Given the description of an element on the screen output the (x, y) to click on. 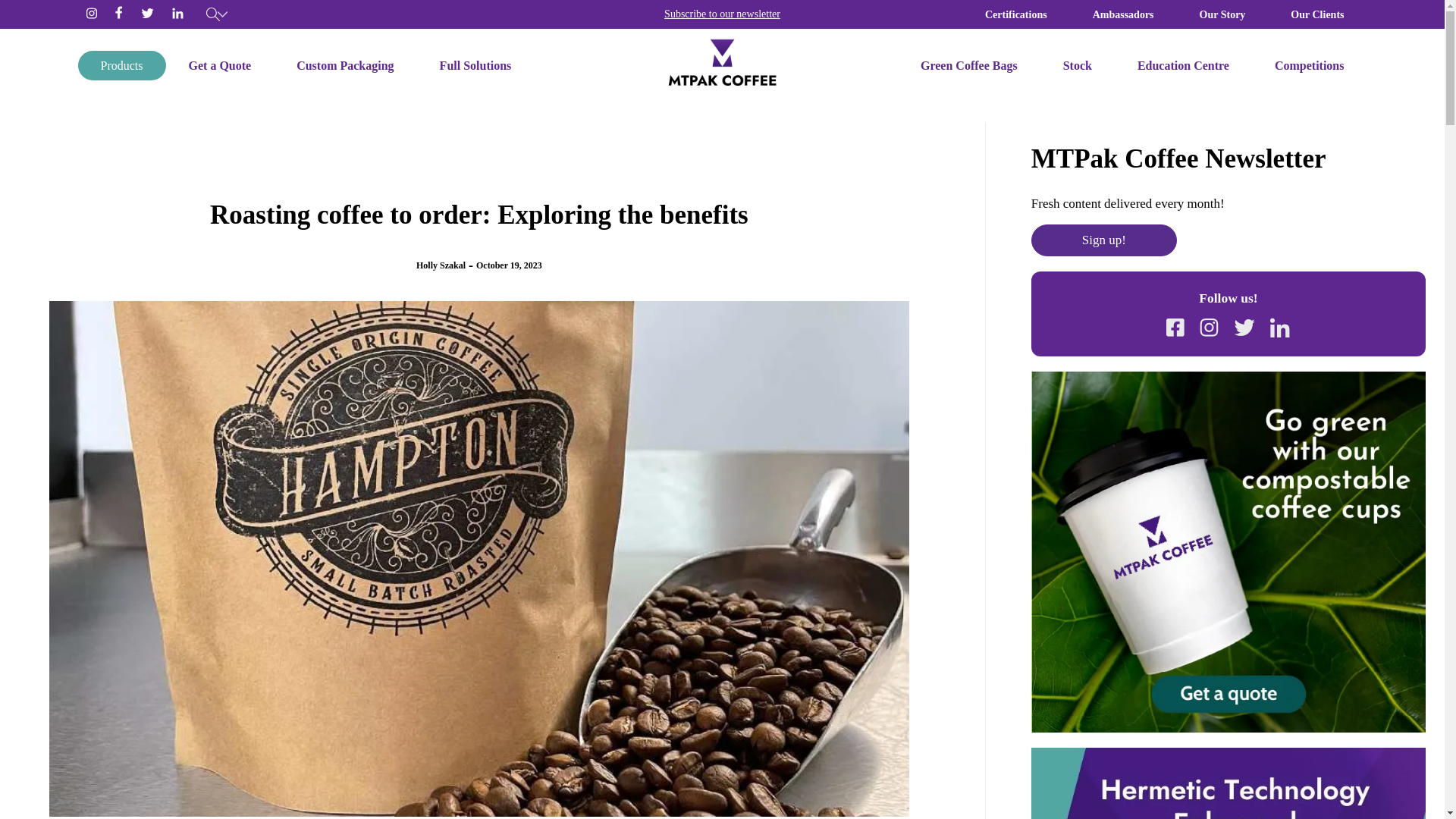
Education Centre (1183, 65)
Our Story (1222, 14)
Ambassadors (1123, 14)
Our Clients (1317, 14)
Stock (1078, 65)
Competitions (1309, 65)
Custom Packaging (344, 65)
Subscribe to our newsletter (721, 14)
Green Coffee Bags (969, 65)
Get a Quote (219, 65)
Products (121, 65)
Full Solutions (475, 65)
Certifications (1016, 14)
